Given the description of an element on the screen output the (x, y) to click on. 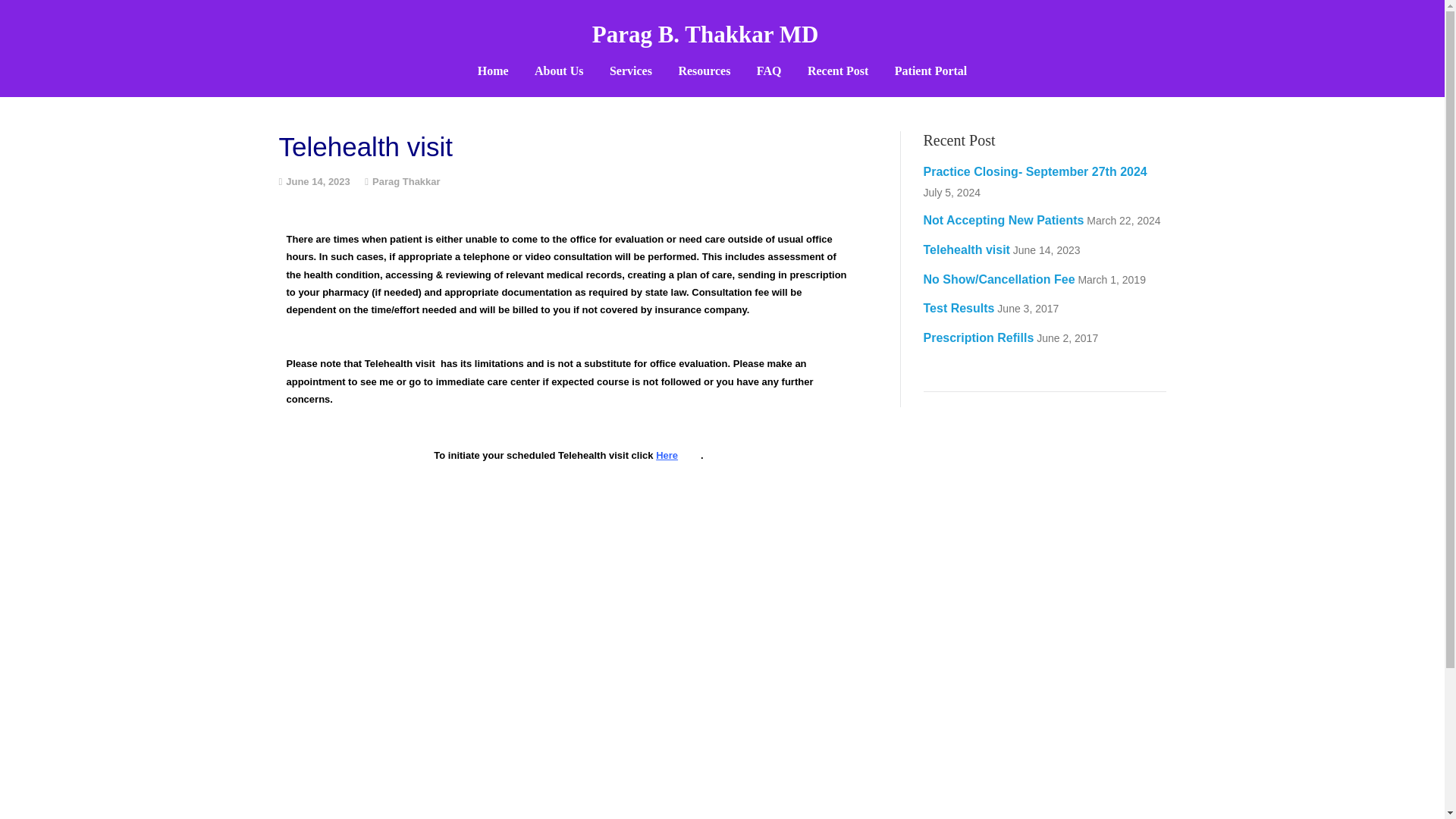
Telehealth visit (966, 249)
Services (630, 71)
Recent Post (837, 71)
Here (667, 455)
About Us (558, 71)
Test Results (958, 308)
Home (492, 71)
Patient Portal (930, 71)
Prescription Refills (978, 337)
Resources (703, 71)
